Given the description of an element on the screen output the (x, y) to click on. 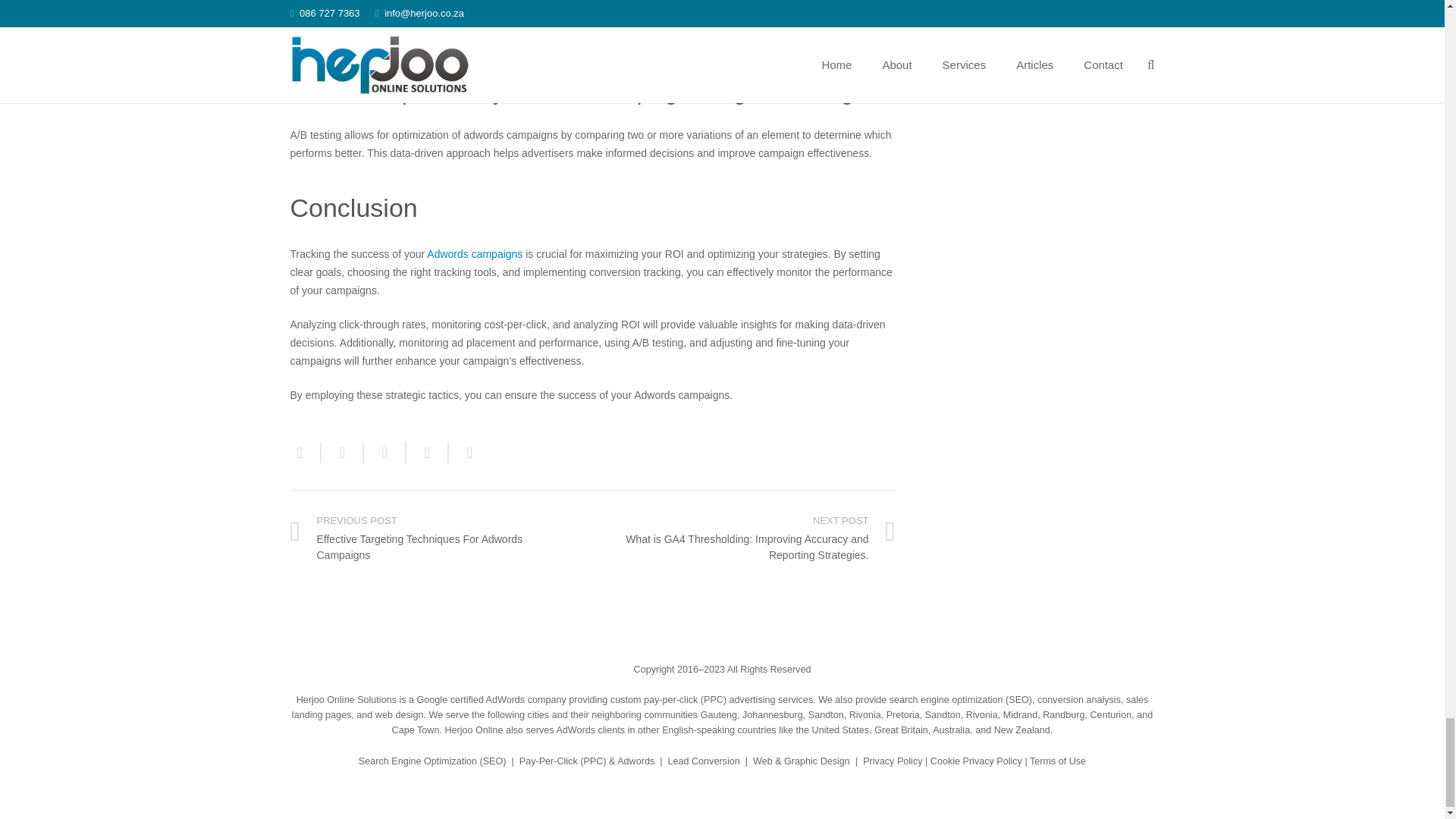
Share this (342, 452)
Share this (464, 452)
Tweet this (385, 452)
Share this (427, 452)
Email this (304, 452)
